Given the description of an element on the screen output the (x, y) to click on. 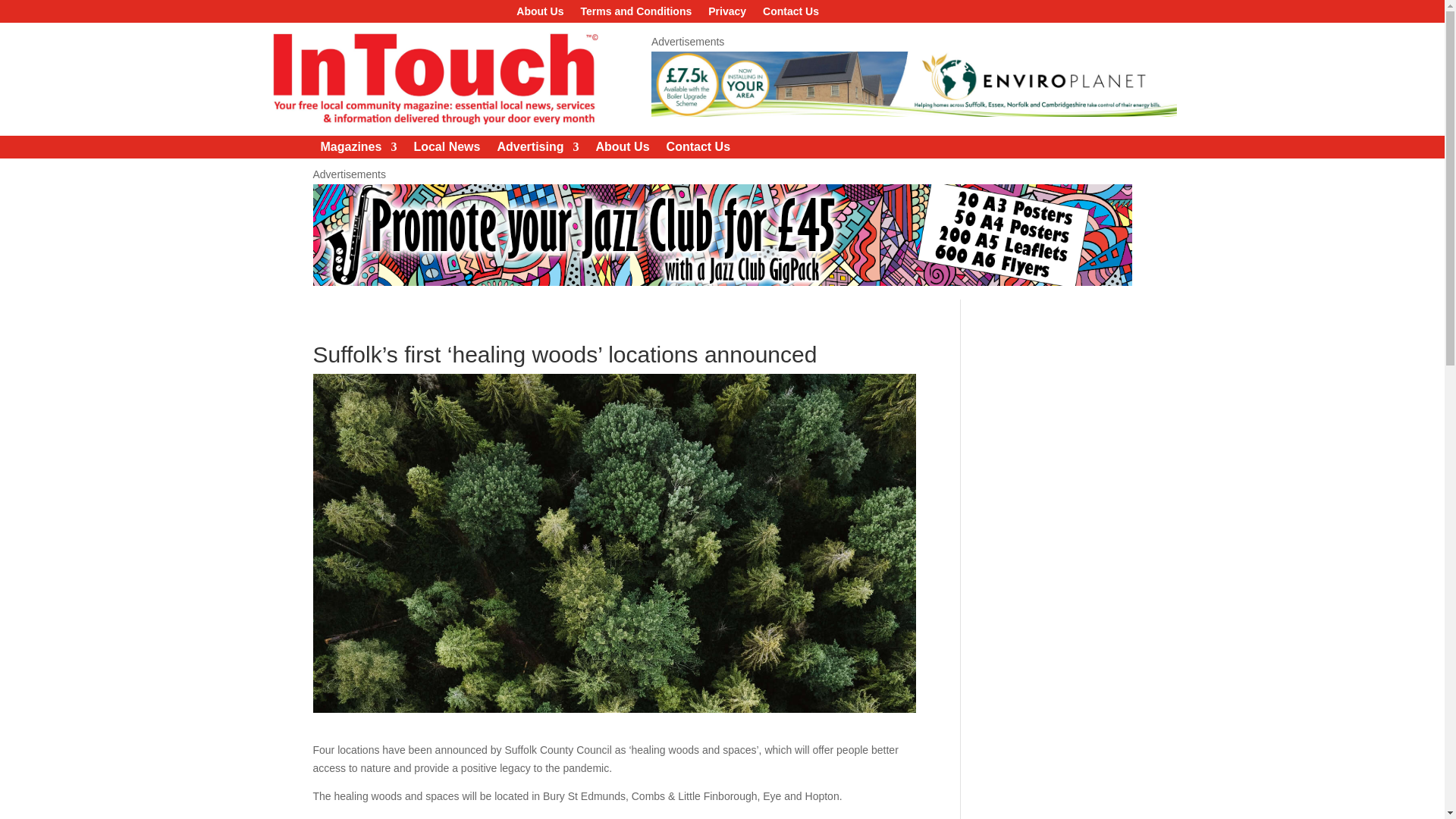
Contact Us (790, 13)
Magazines (358, 149)
Privacy (726, 13)
Terms and Conditions (636, 13)
Local News (446, 149)
About Us (622, 149)
InTouch Logo (432, 78)
About Us (539, 13)
Contact Us (698, 149)
Advertising (537, 149)
